Given the description of an element on the screen output the (x, y) to click on. 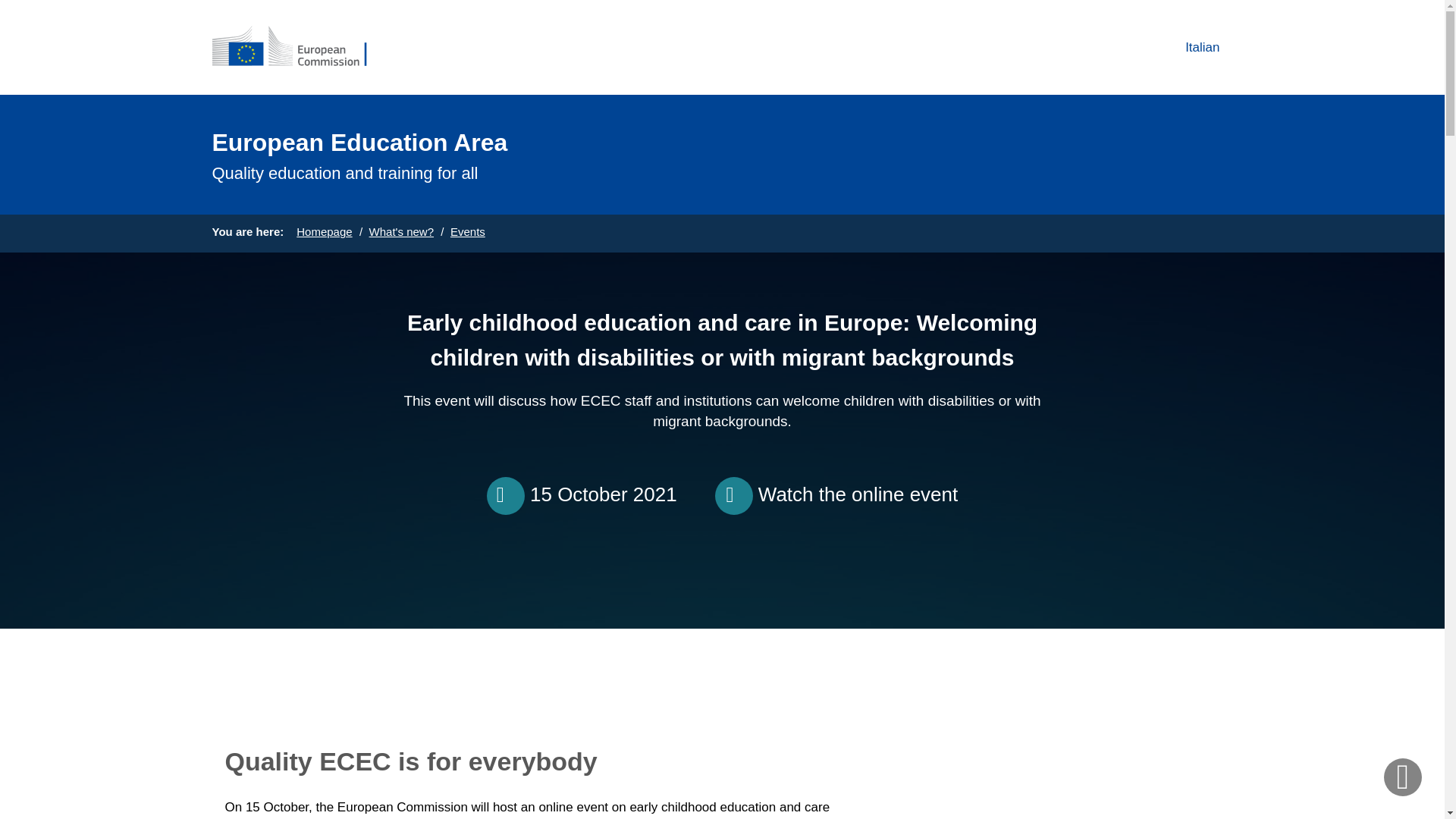
What's new? (401, 231)
Watch the online event (858, 494)
Events (466, 231)
Skip to main content (6, 6)
Homepage (1189, 46)
